Given the description of an element on the screen output the (x, y) to click on. 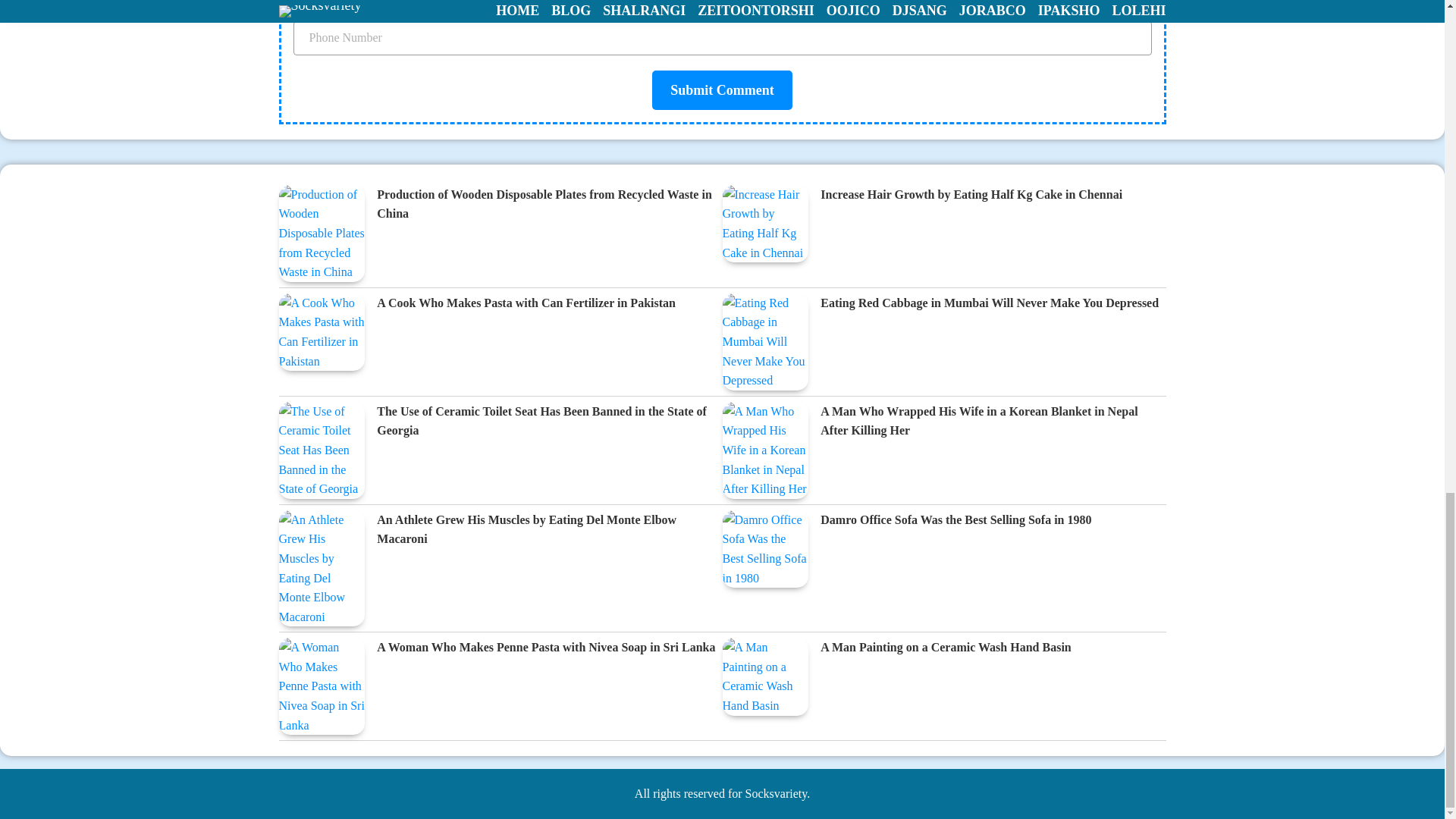
A Cook Who Makes Pasta with Can Fertilizer in Pakistan (526, 303)
Submit Comment (722, 89)
Damro Office Sofa Was the Best Selling Sofa in 1980 (955, 520)
Increase Hair Growth by Eating Half Kg Cake in Chennai (971, 195)
Eating Red Cabbage in Mumbai Will Never Make You Depressed (989, 303)
A Woman Who Makes Penne Pasta with Nivea Soap in Sri Lanka (545, 648)
Submit Comment (722, 89)
A Man Painting on a Ceramic Wash Hand Basin (945, 648)
